Given the description of an element on the screen output the (x, y) to click on. 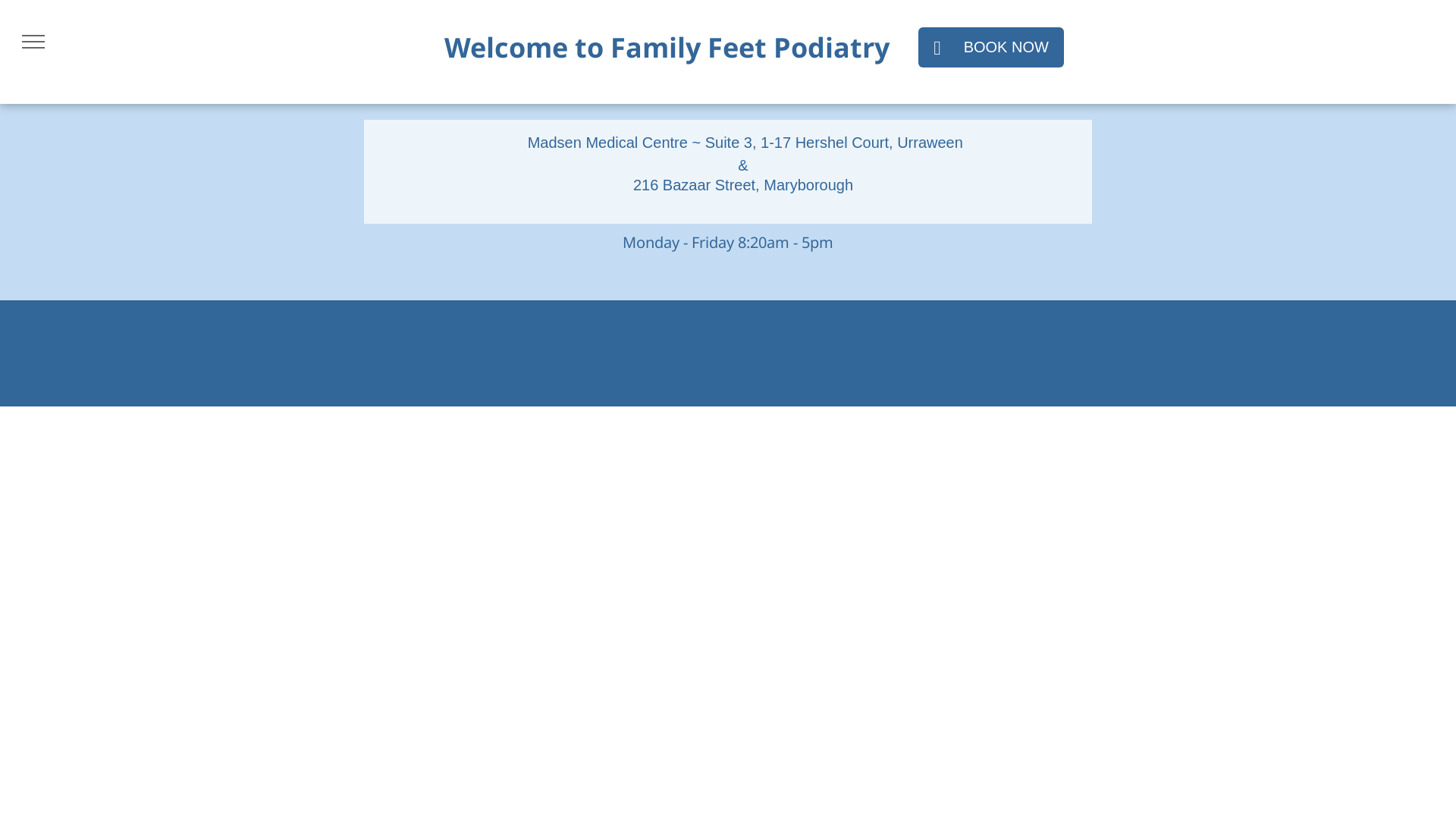
BOOK NOW Element type: text (990, 47)
